Given the description of an element on the screen output the (x, y) to click on. 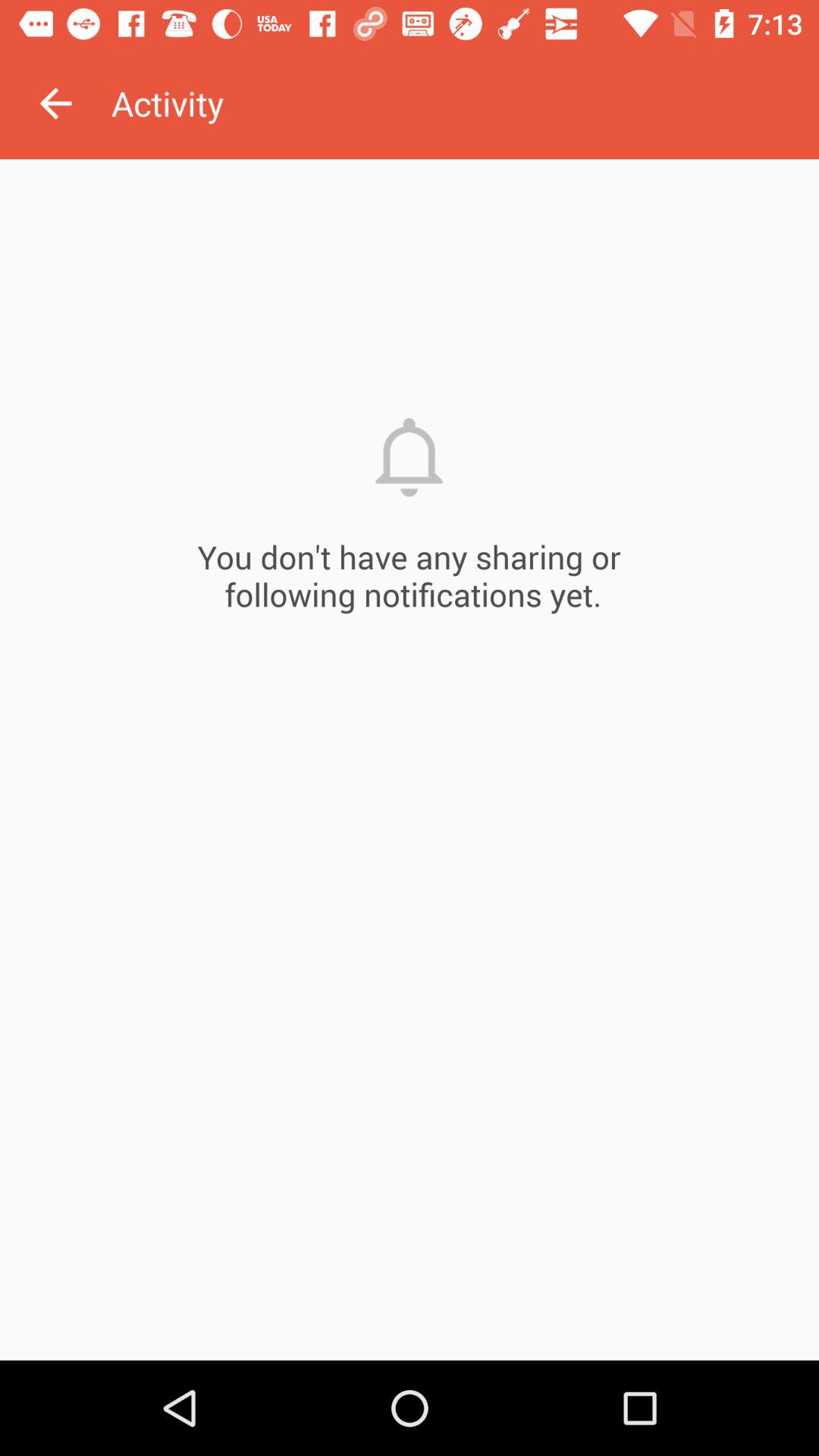
press the activity icon (465, 103)
